Given the description of an element on the screen output the (x, y) to click on. 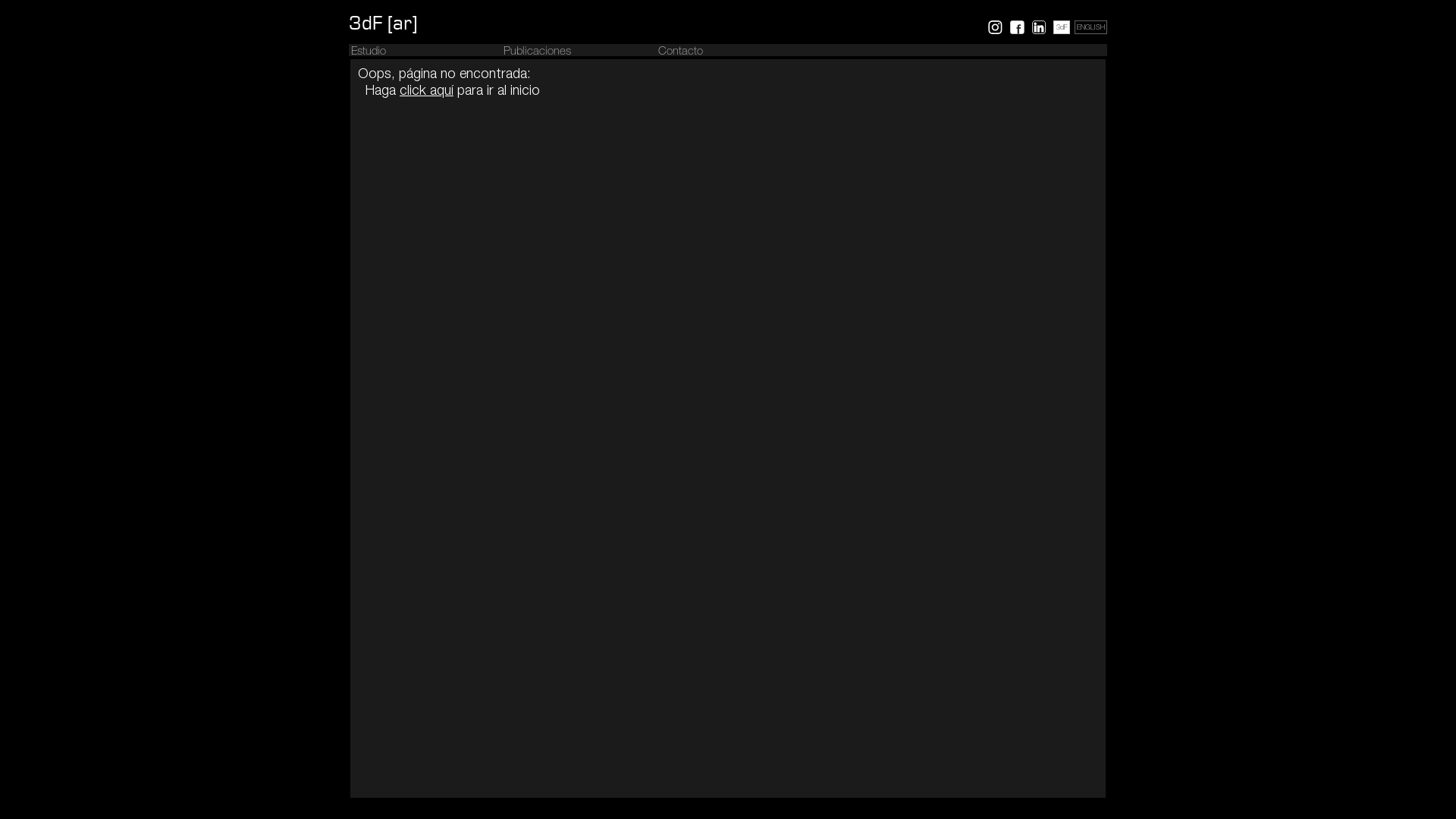
Publicaciones Element type: text (537, 51)
LinkedIn Element type: hover (1038, 27)
Instagram Element type: hover (995, 27)
Estudio Element type: text (368, 51)
3dF Element type: text (1061, 28)
Facebook Element type: hover (1017, 27)
3dF [ar] Element type: text (382, 23)
ENGLISH Element type: text (1090, 28)
Contacto Element type: text (680, 51)
